Given the description of an element on the screen output the (x, y) to click on. 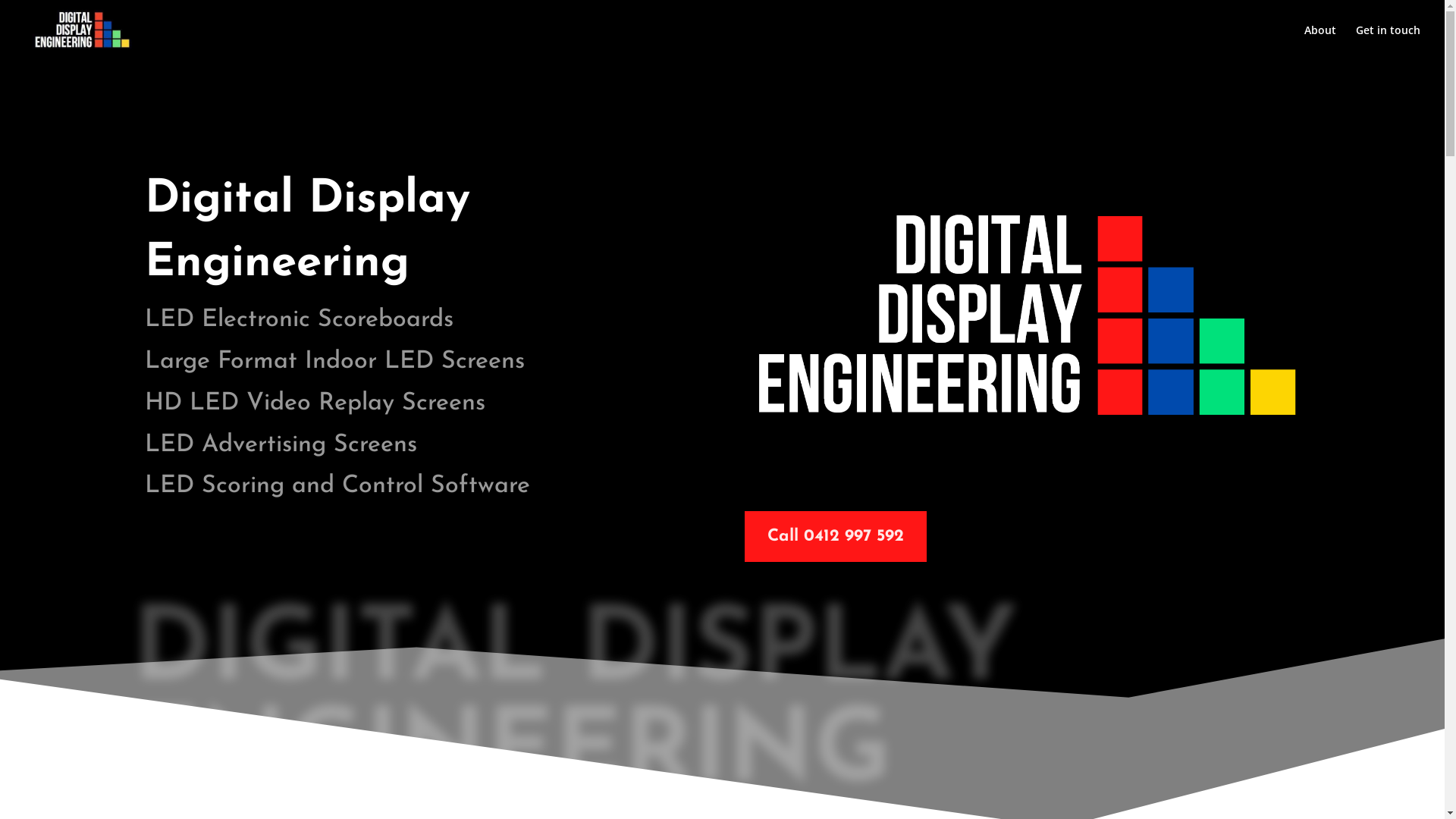
Get in touch Element type: text (1387, 42)
Call 0412 997 592 Element type: text (835, 536)
Digital Display Engineering Element type: hover (1026, 311)
About Element type: text (1320, 42)
